Given the description of an element on the screen output the (x, y) to click on. 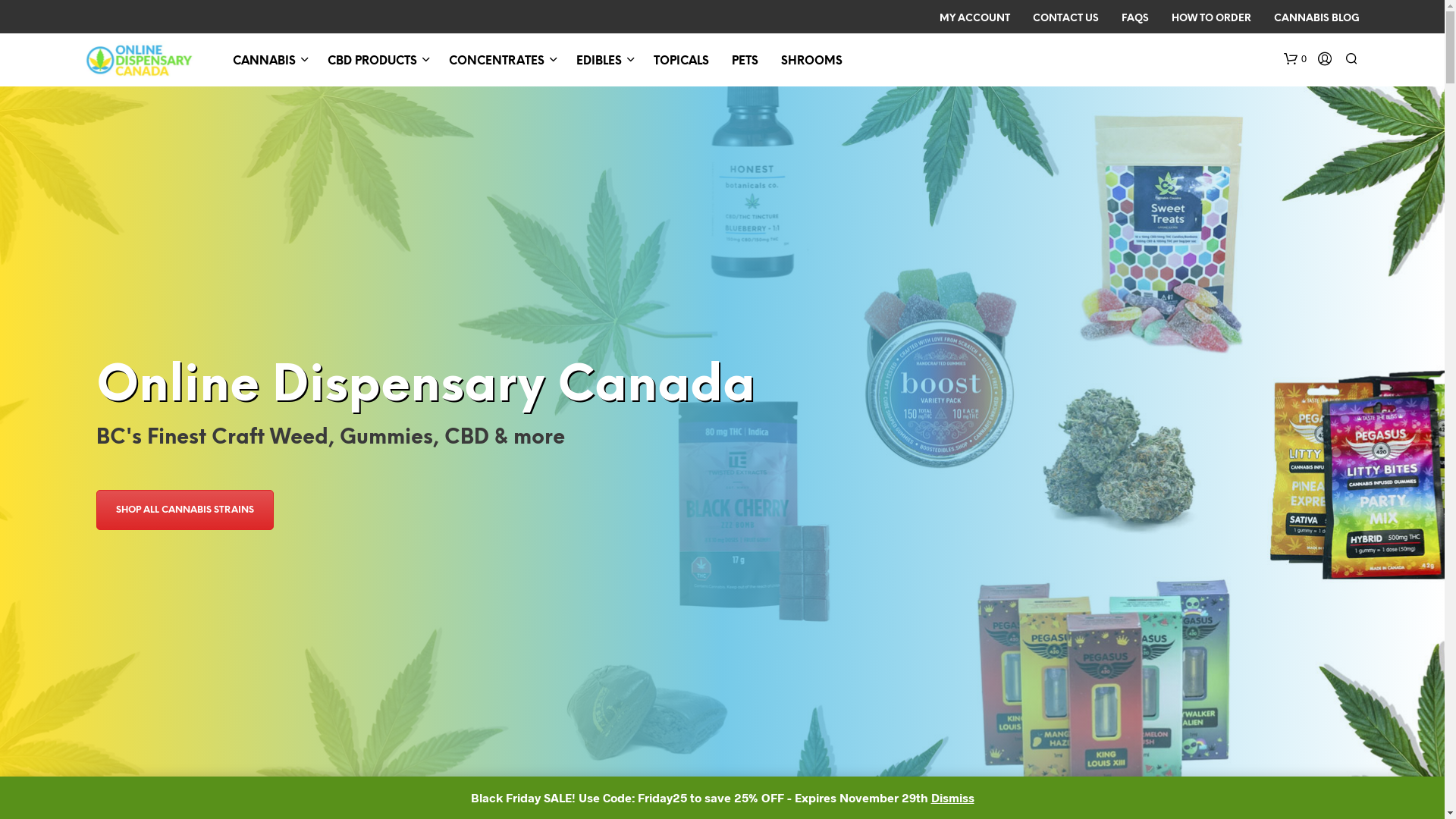
Dismiss Element type: text (952, 797)
TOPICALS Element type: text (681, 61)
CONTACT US Element type: text (1064, 18)
CBD PRODUCTS Element type: text (372, 61)
CANNABIS BLOG Element type: text (1315, 18)
MY ACCOUNT Element type: text (974, 18)
SHROOMS Element type: text (811, 61)
CONCENTRATES Element type: text (496, 61)
HOW TO ORDER Element type: text (1211, 18)
EDIBLES Element type: text (598, 61)
0 Element type: text (1294, 58)
Quality Product at Affordable Prices Element type: hover (139, 59)
FAQS Element type: text (1135, 18)
PETS Element type: text (744, 61)
SHOP ALL CANNABIS STRAINS Element type: text (184, 509)
CANNABIS Element type: text (264, 61)
